Given the description of an element on the screen output the (x, y) to click on. 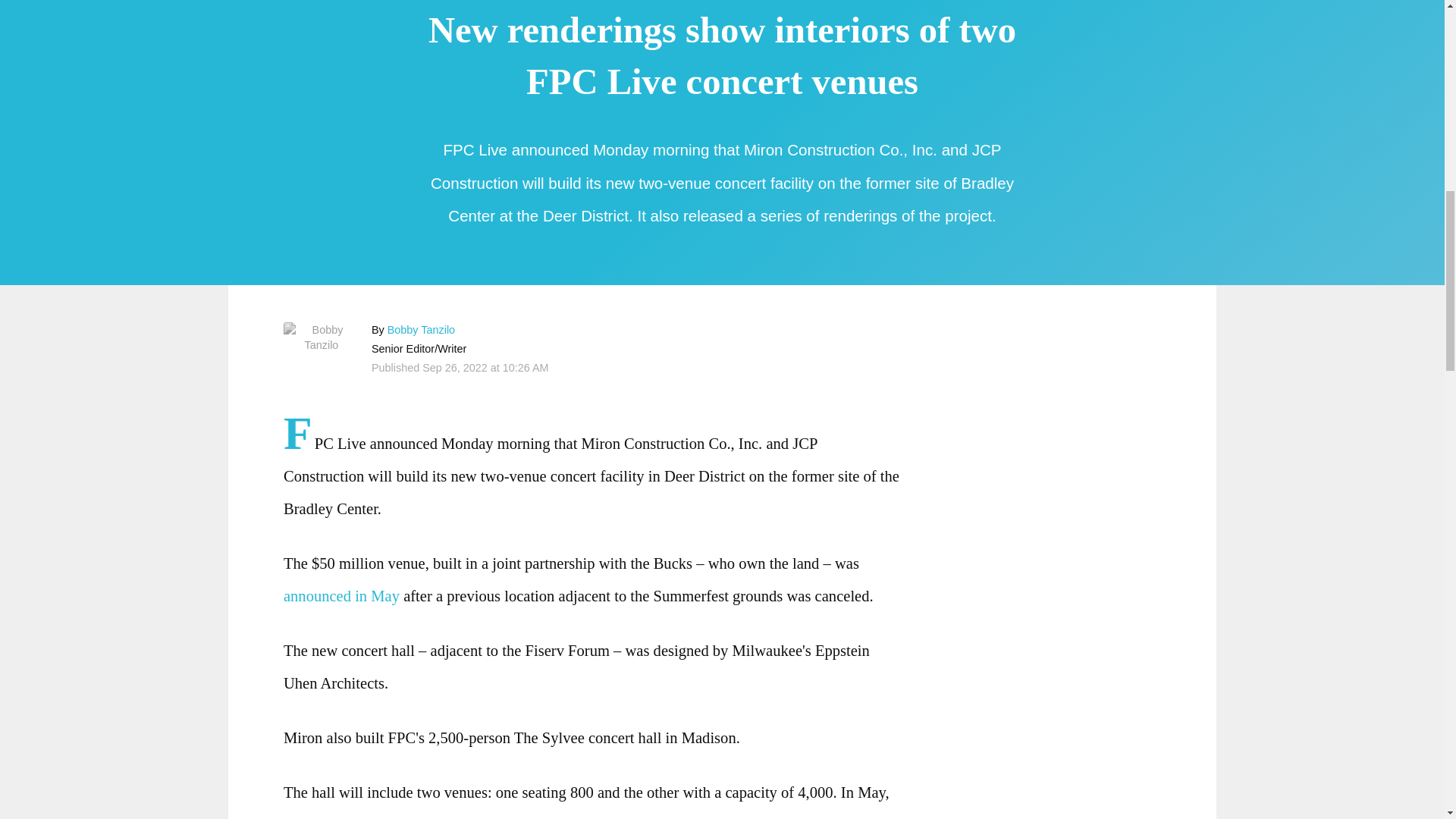
announced in May (340, 596)
More articles by Bobby Tanzilo (420, 329)
Bobby Tanzilo (321, 337)
Bobby Tanzilo (420, 329)
